Given the description of an element on the screen output the (x, y) to click on. 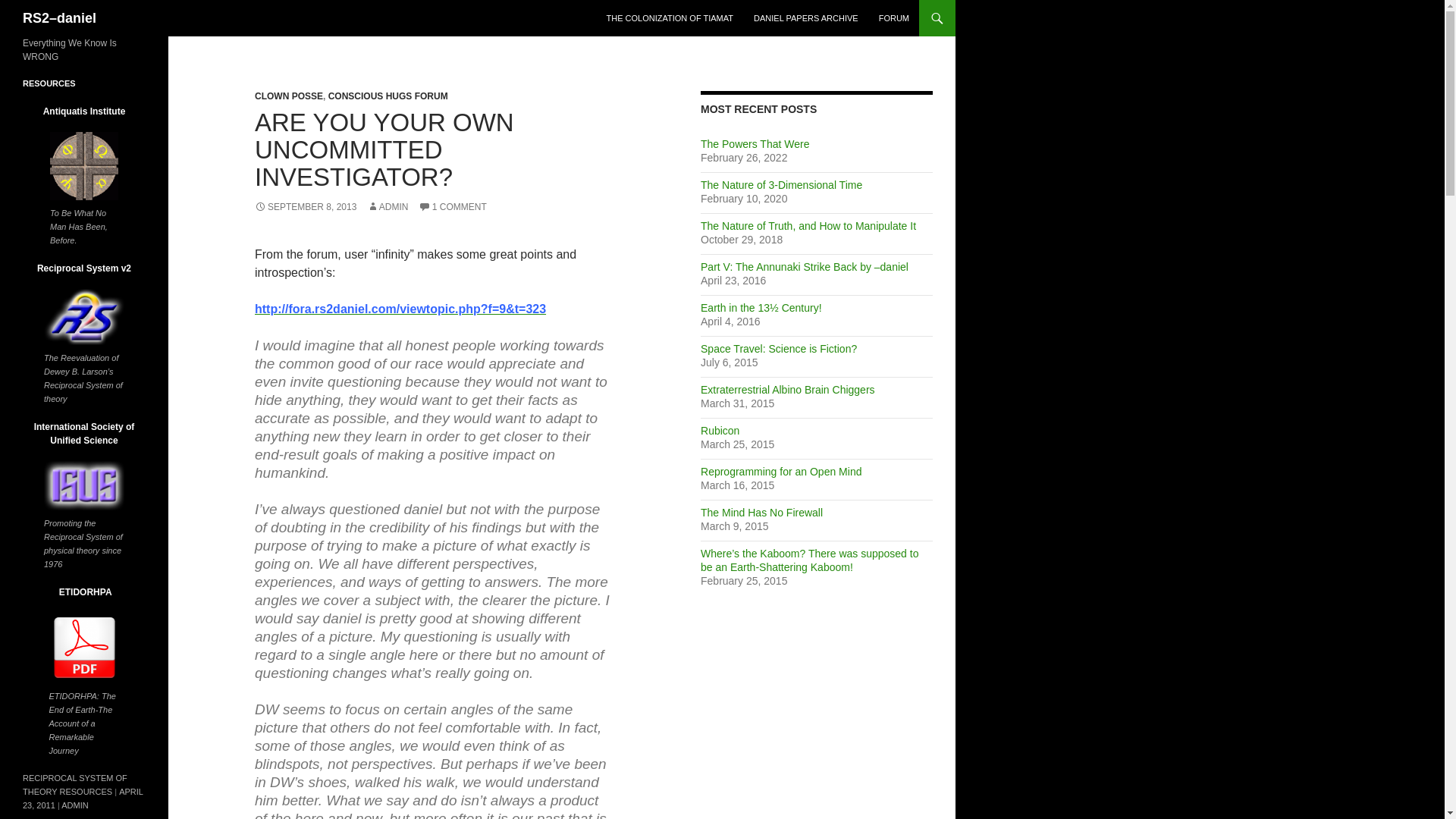
Rubicon (719, 430)
DANIEL PAPERS ARCHIVE (805, 18)
Editorhpa (83, 647)
CONSCIOUS HUGS FORUM (388, 95)
THE COLONIZATION OF TIAMAT (669, 18)
ISUS website (83, 485)
Antiquatis Institute (83, 165)
The Nature of Truth, and How to Manipulate It (807, 225)
RESOURCES (49, 82)
The Nature of 3-Dimensional Time (780, 184)
